Given the description of an element on the screen output the (x, y) to click on. 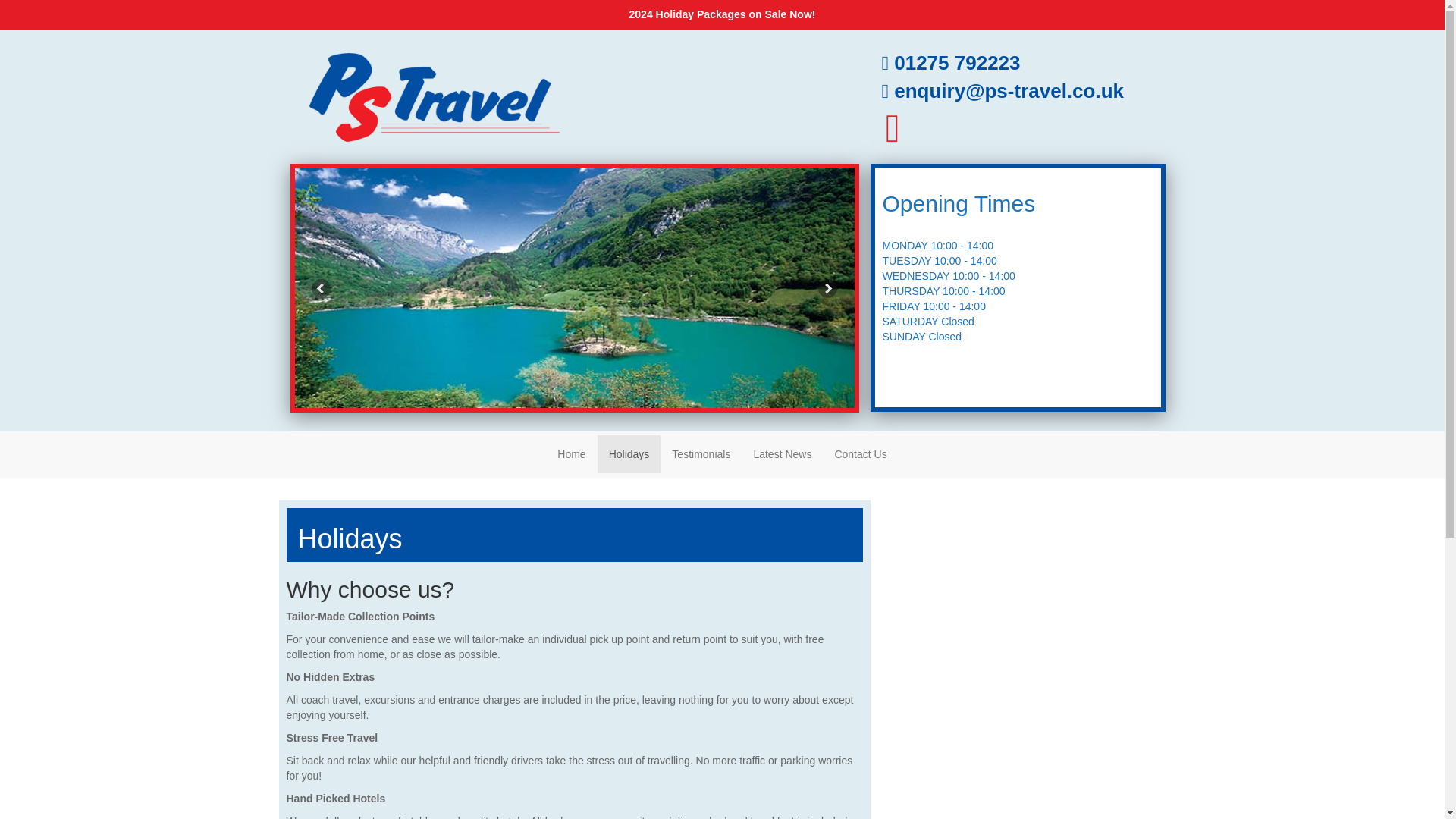
Contact Us (860, 453)
facebook (891, 134)
Testimonials (701, 453)
Latest News (781, 453)
PS Travel (431, 96)
Holidays (628, 453)
Home (571, 453)
